Given the description of an element on the screen output the (x, y) to click on. 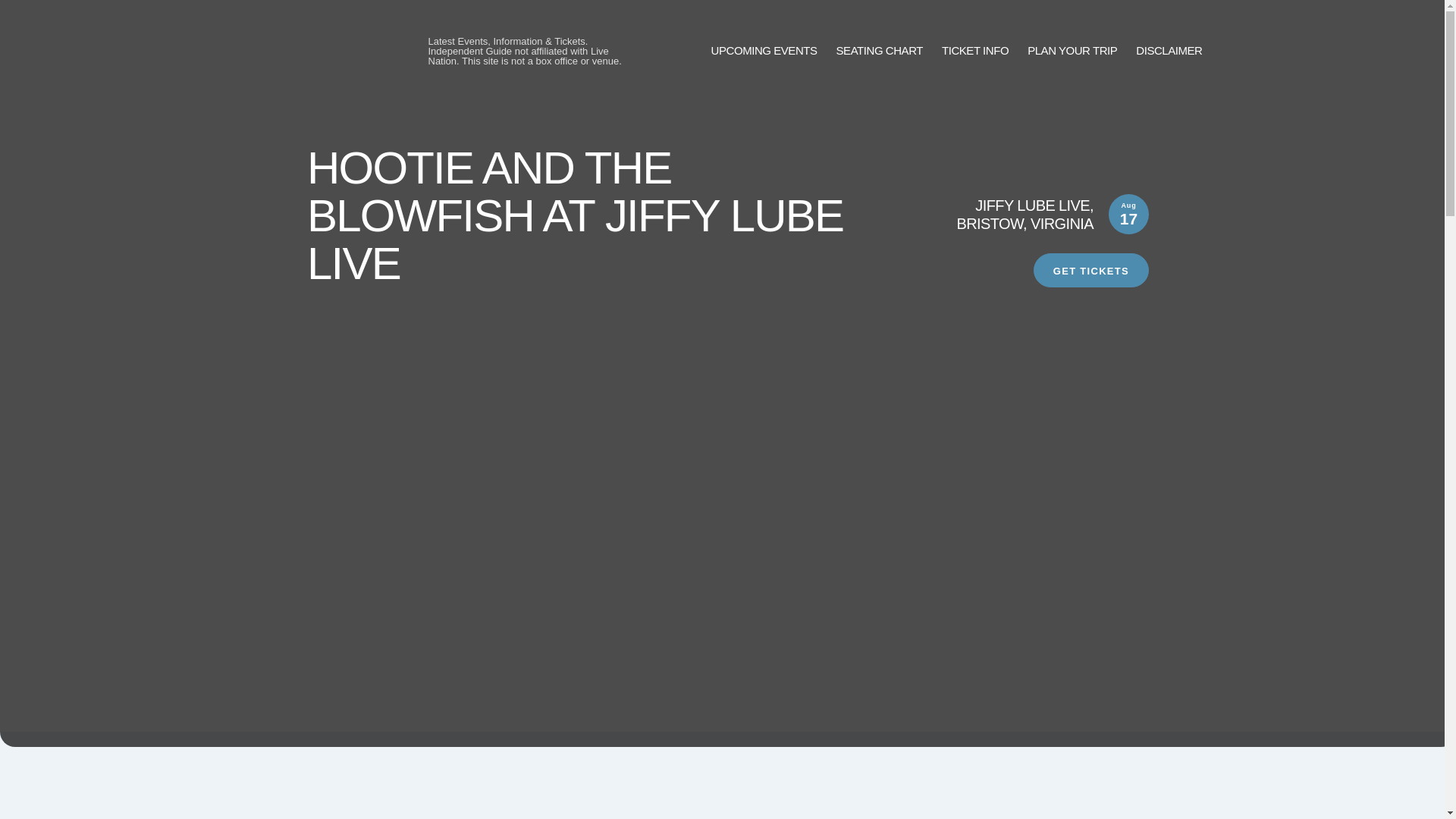
TICKET INFO (975, 50)
PLAN YOUR TRIP (1071, 50)
UPCOMING EVENTS (763, 50)
GET TICKETS (1090, 270)
SEATING CHART (879, 50)
DISCLAIMER (1168, 50)
